Given the description of an element on the screen output the (x, y) to click on. 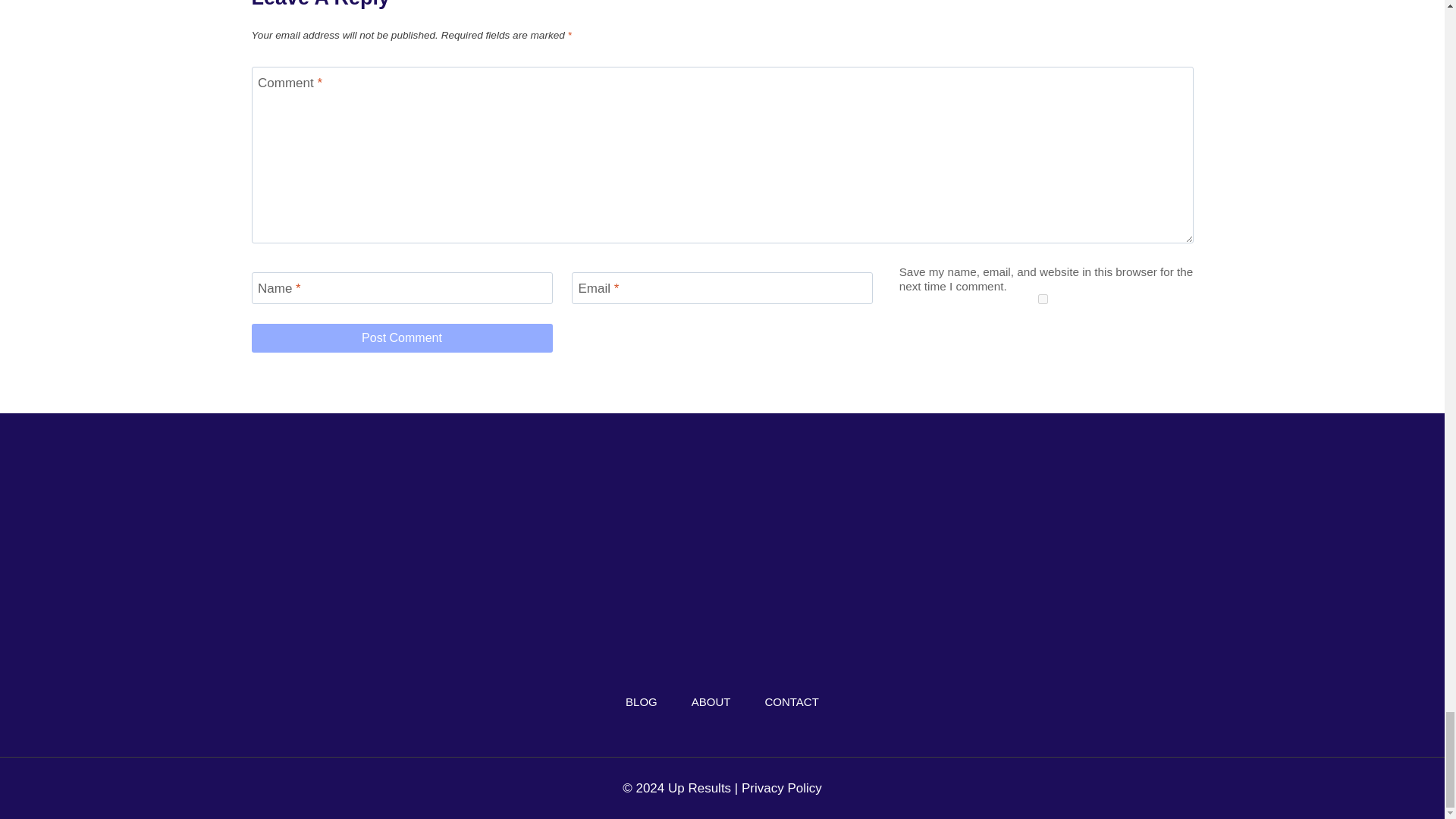
yes (1041, 298)
Post Comment (402, 337)
